Given the description of an element on the screen output the (x, y) to click on. 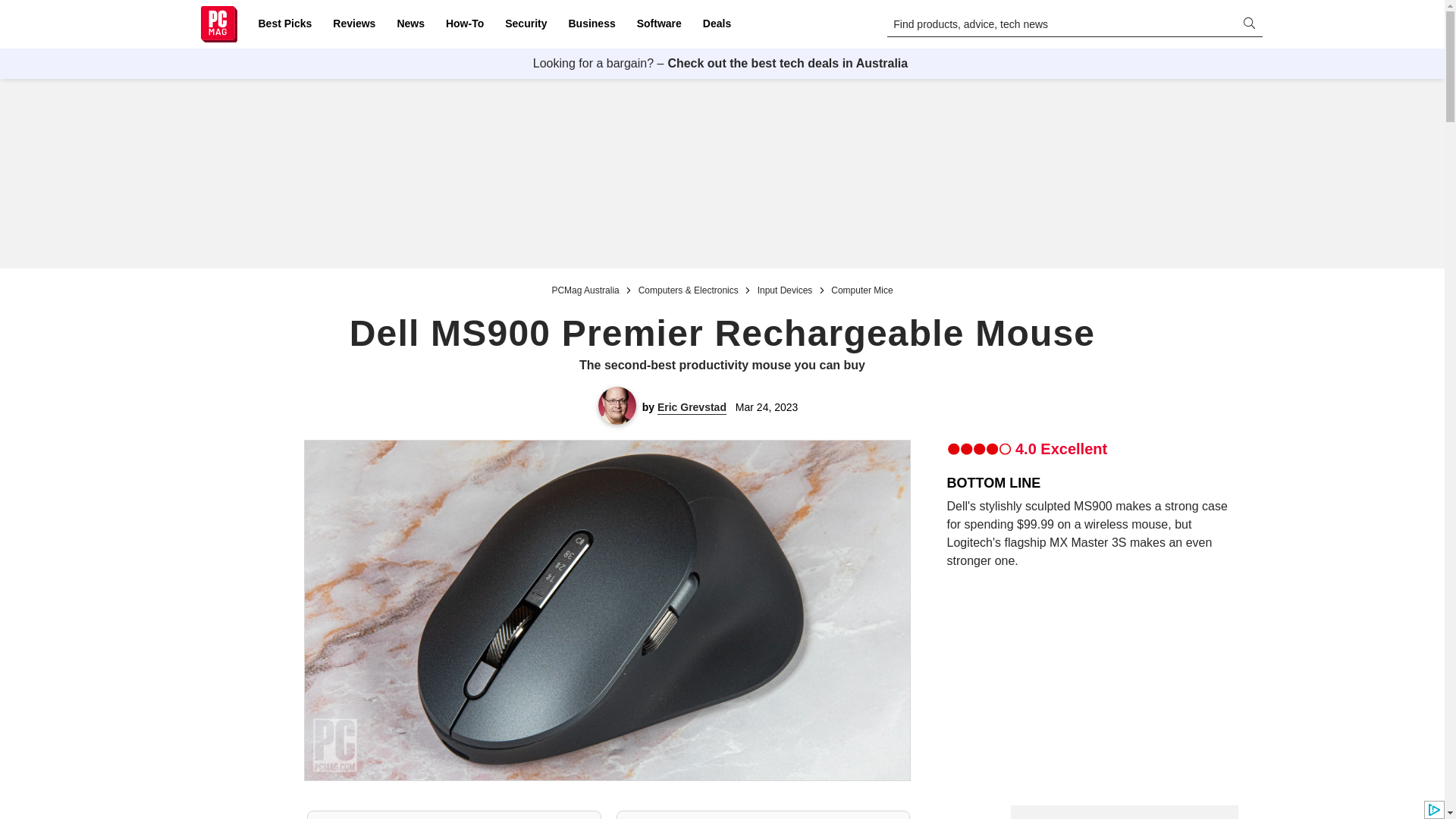
Reviews (353, 24)
Security (526, 24)
Best Picks (284, 24)
Business (591, 24)
How-To (464, 24)
